Given the description of an element on the screen output the (x, y) to click on. 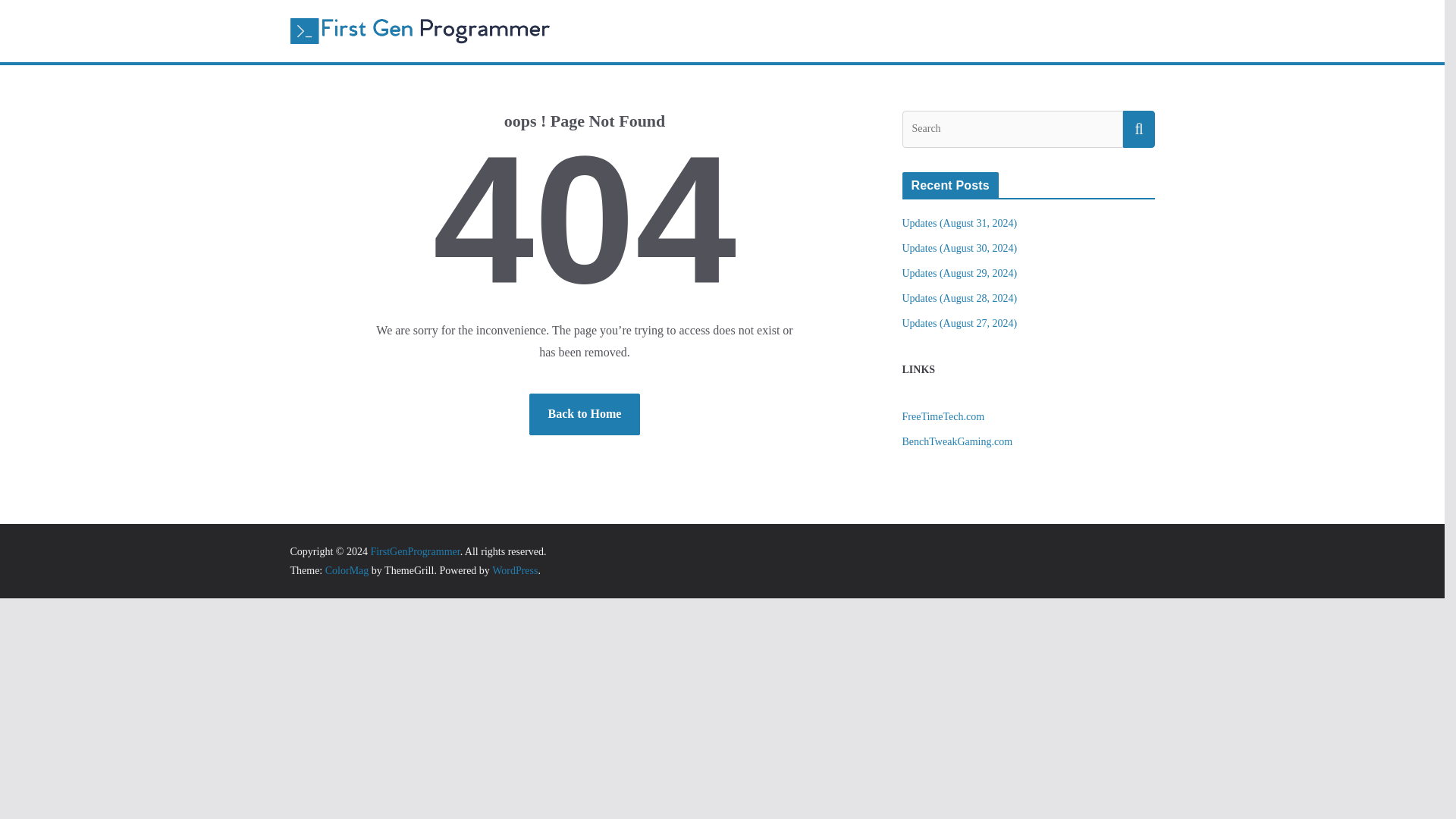
WordPress (514, 570)
Back to Home (584, 413)
FreeTimeTech.com (943, 416)
FirstGenProgrammer (414, 551)
ColorMag (346, 570)
WordPress (514, 570)
FirstGenProgrammer (414, 551)
ColorMag (346, 570)
BenchTweakGaming.com (957, 441)
